Given the description of an element on the screen output the (x, y) to click on. 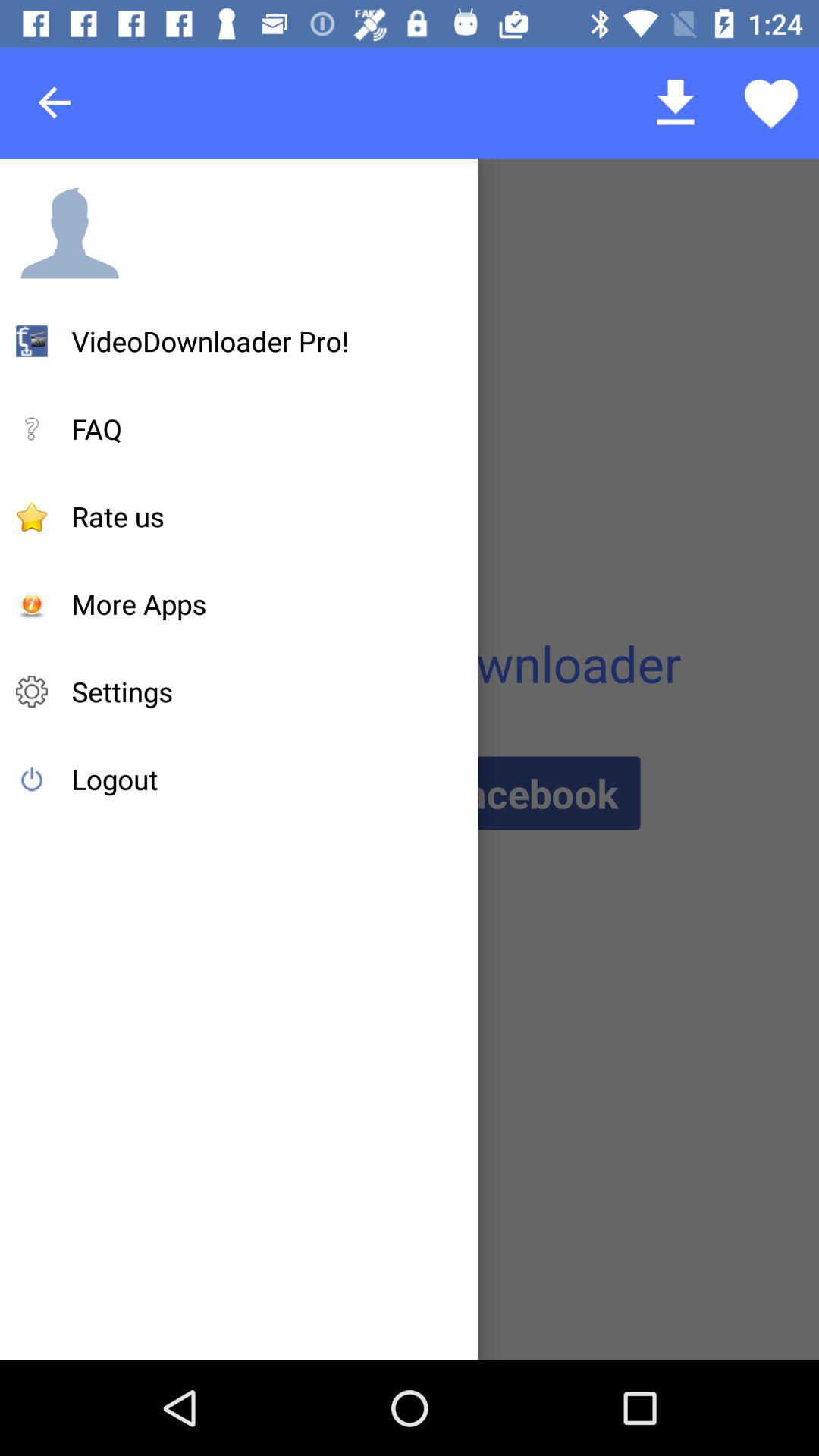
click the icon below settings (114, 778)
